Given the description of an element on the screen output the (x, y) to click on. 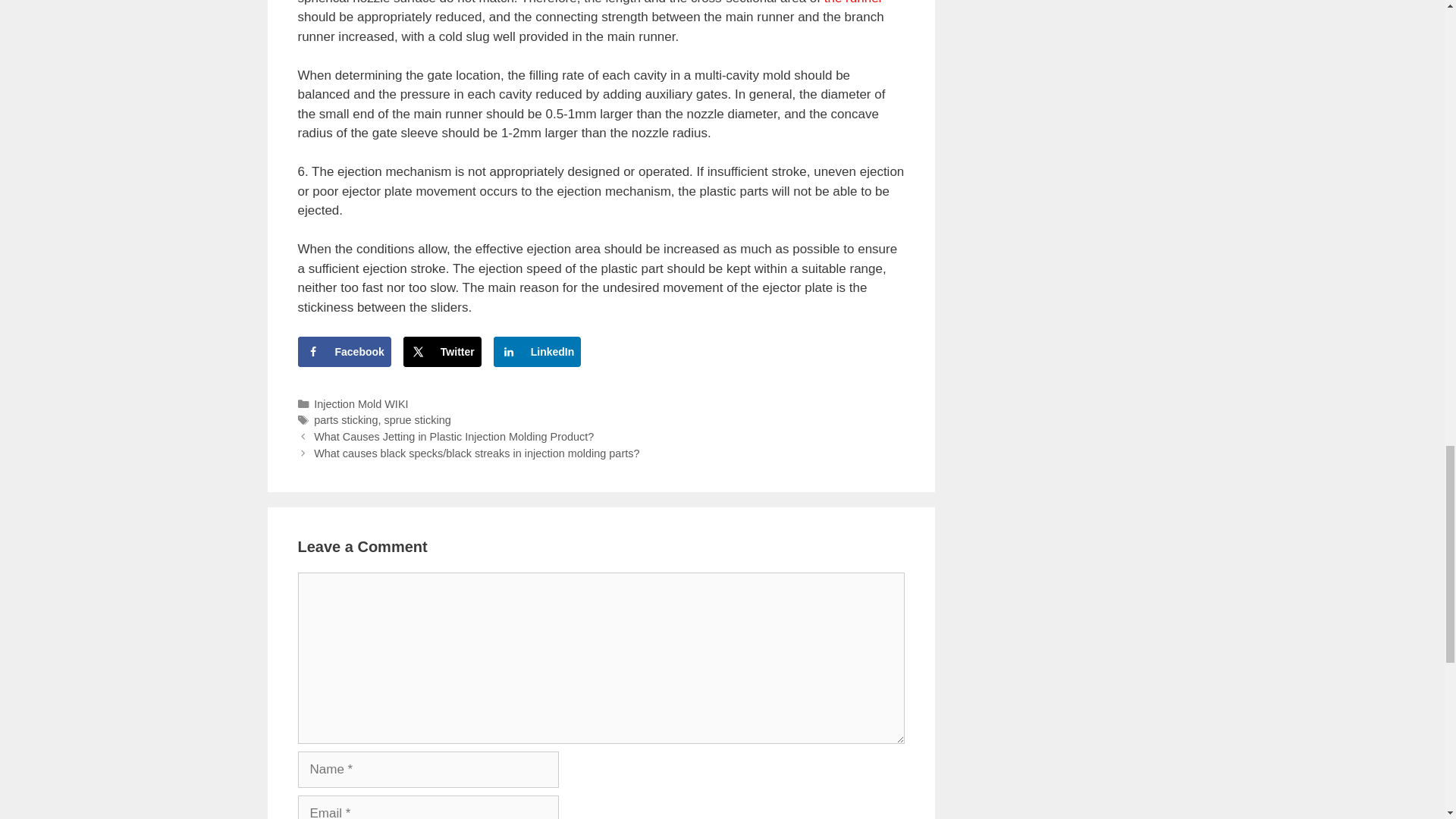
Share on X (442, 351)
the runner (853, 2)
Share on Facebook (343, 351)
Share on LinkedIn (536, 351)
